Given the description of an element on the screen output the (x, y) to click on. 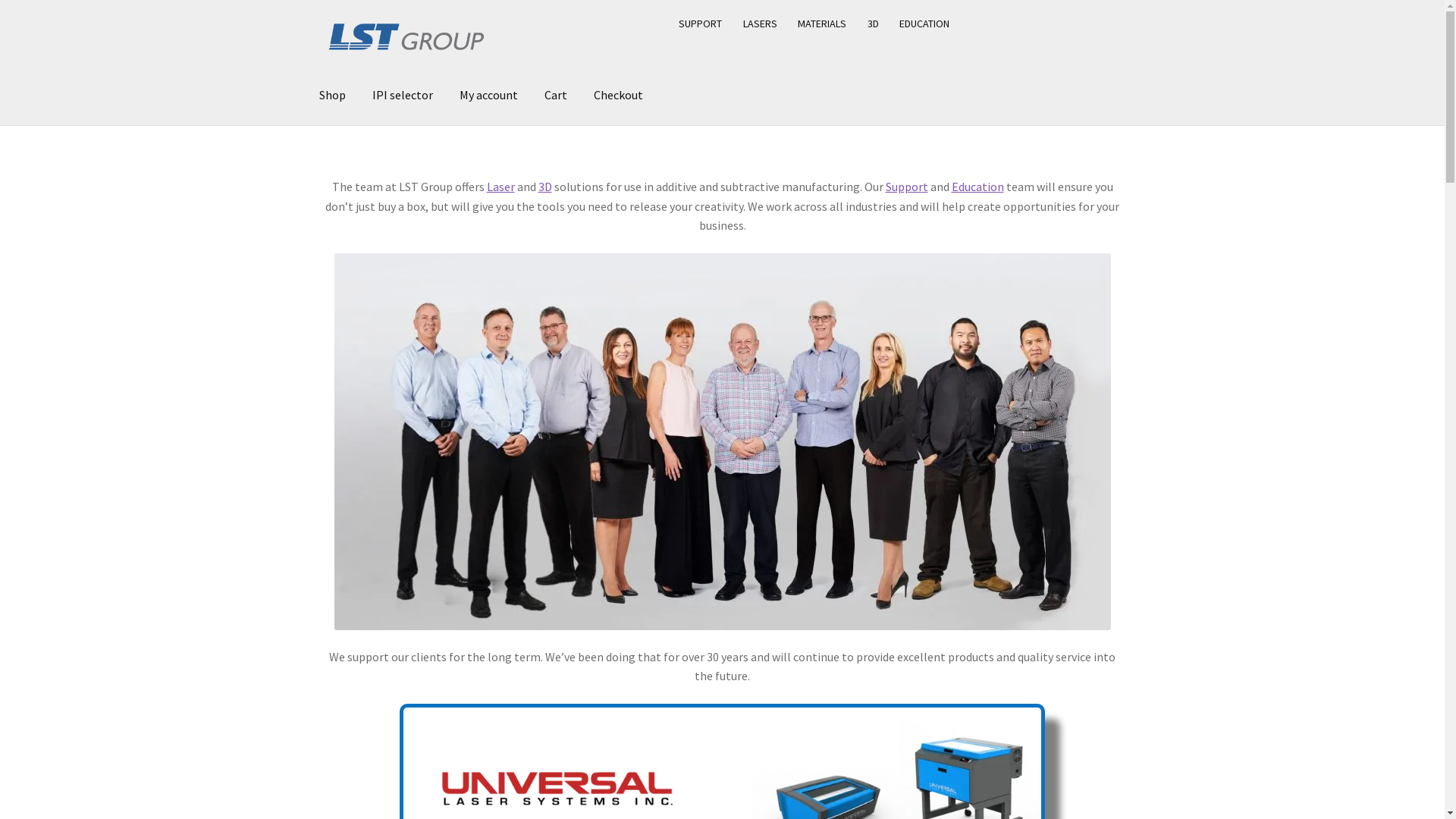
IPI selector Element type: text (402, 95)
Skip to navigation Element type: text (318, 6)
Laser Element type: text (500, 186)
Shop Element type: text (332, 95)
My account Element type: text (488, 95)
Checkout Element type: text (618, 95)
MATERIALS Element type: text (822, 23)
SUPPORT Element type: text (700, 23)
3D Element type: text (545, 186)
3D Element type: text (873, 23)
EDUCATION Element type: text (924, 23)
Cart Element type: text (555, 95)
Education Element type: text (976, 186)
LASERS Element type: text (760, 23)
Support Element type: text (906, 186)
